Given the description of an element on the screen output the (x, y) to click on. 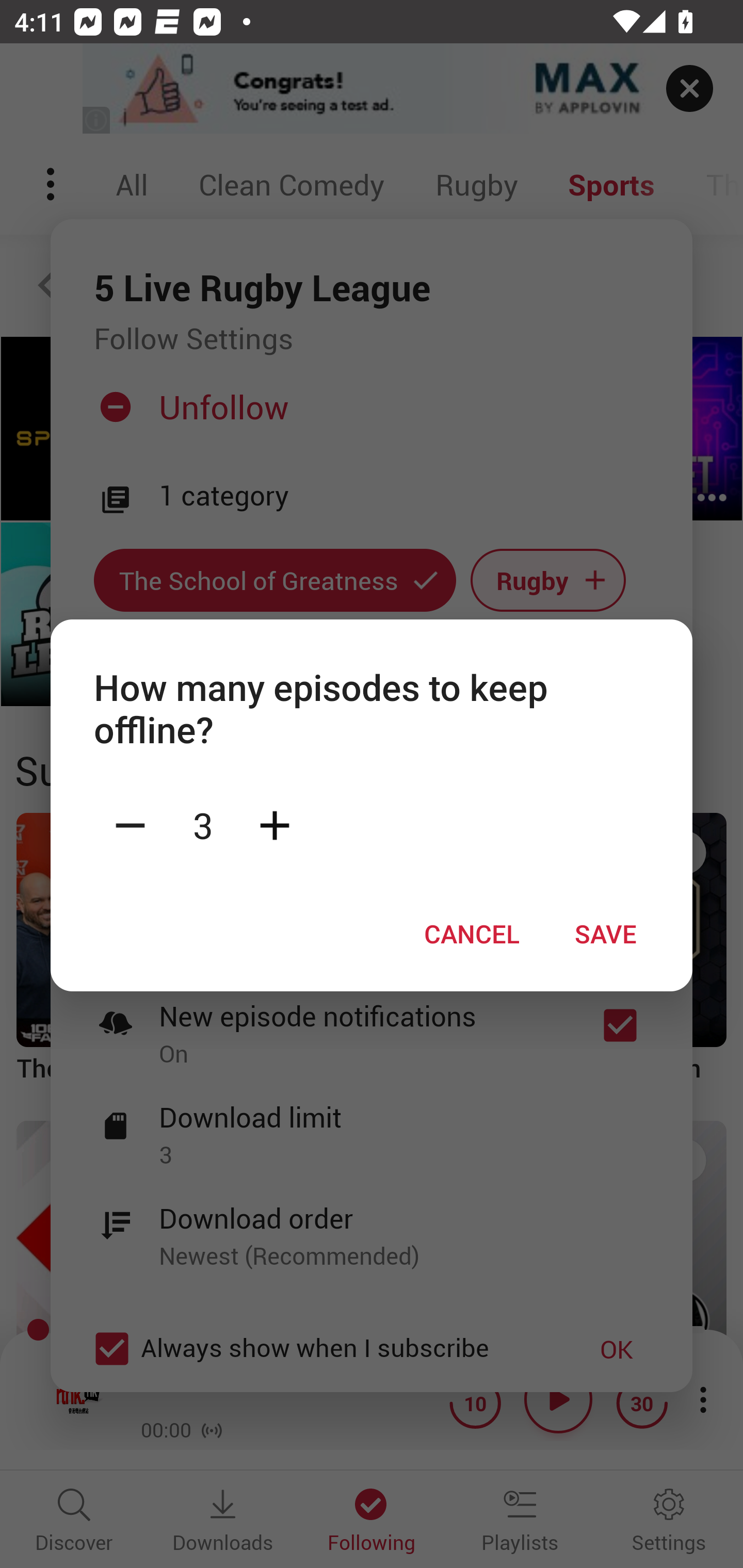
Minus (129, 824)
Plus (274, 824)
CANCEL (470, 933)
SAVE (605, 933)
